Given the description of an element on the screen output the (x, y) to click on. 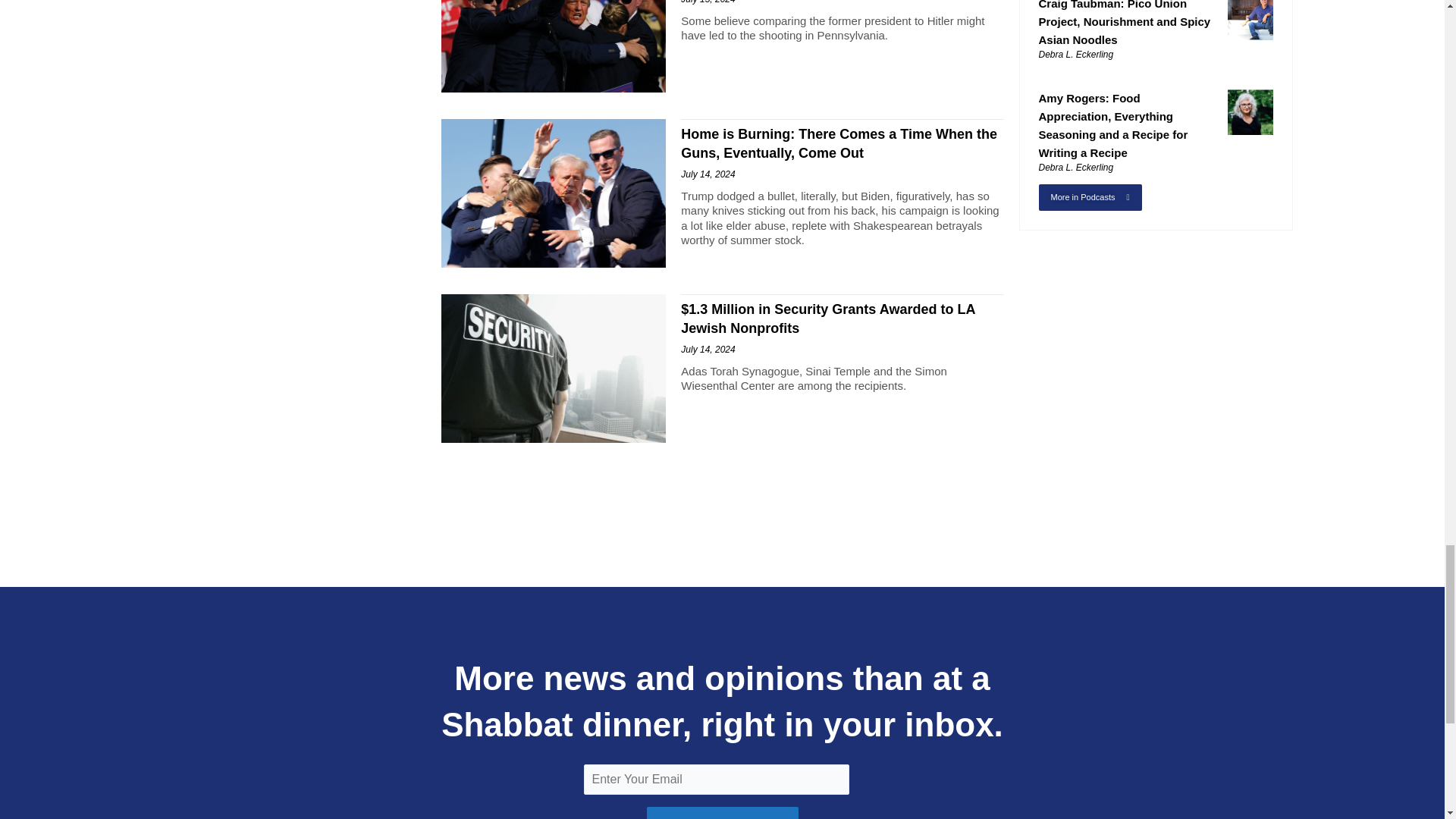
3rd party ad content (721, 503)
Sign Up (721, 812)
